Given the description of an element on the screen output the (x, y) to click on. 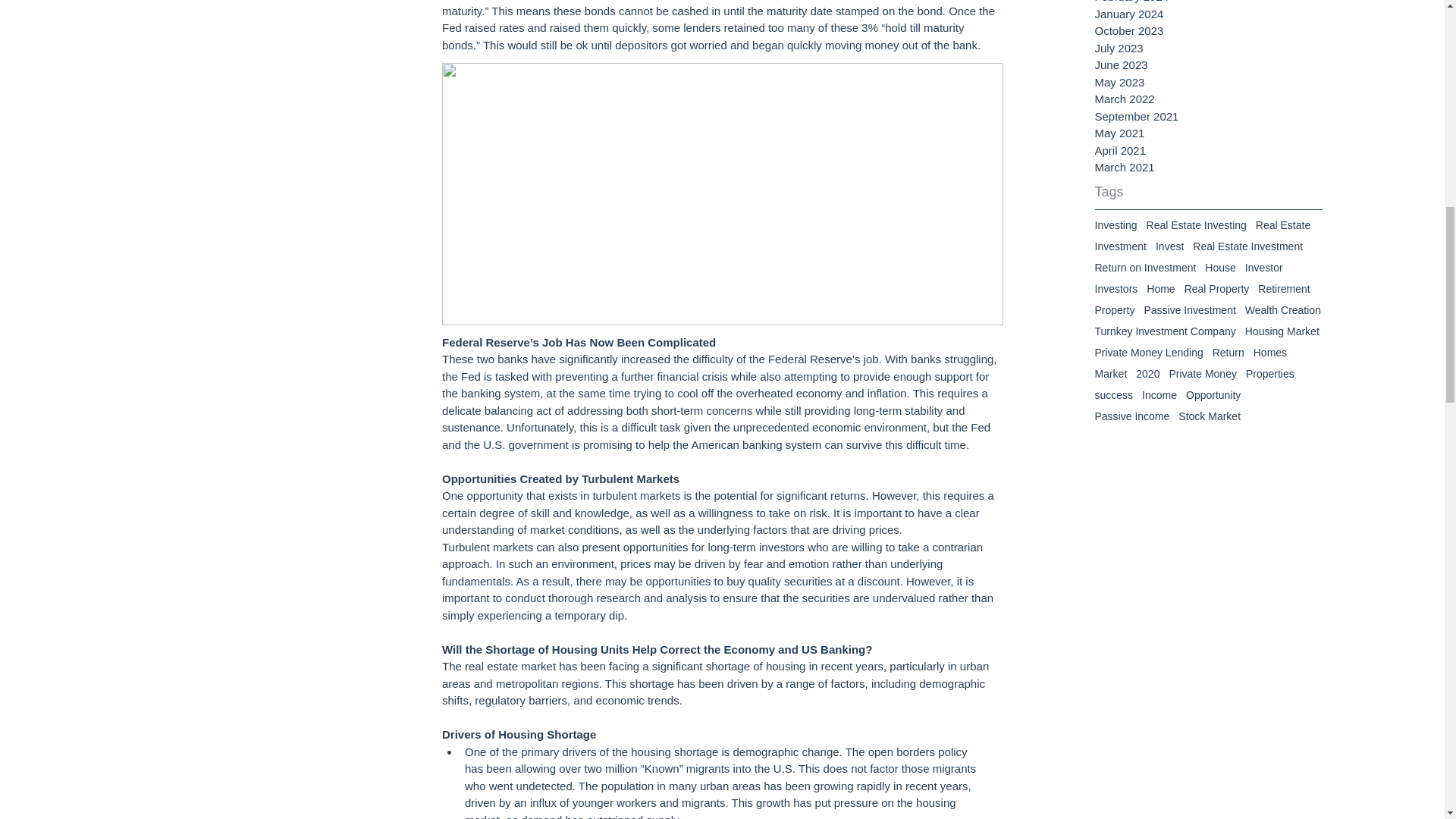
Investing (1115, 224)
May 2021 (1208, 133)
Retirement (1282, 288)
Real Estate Investment (1247, 246)
June 2023 (1208, 65)
Real Estate Investing (1196, 224)
April 2021 (1208, 150)
Property (1114, 309)
March 2022 (1208, 99)
January 2024 (1208, 14)
Investment (1120, 246)
September 2021 (1208, 117)
Investors (1116, 288)
July 2023 (1208, 48)
February 2024 (1208, 2)
